Given the description of an element on the screen output the (x, y) to click on. 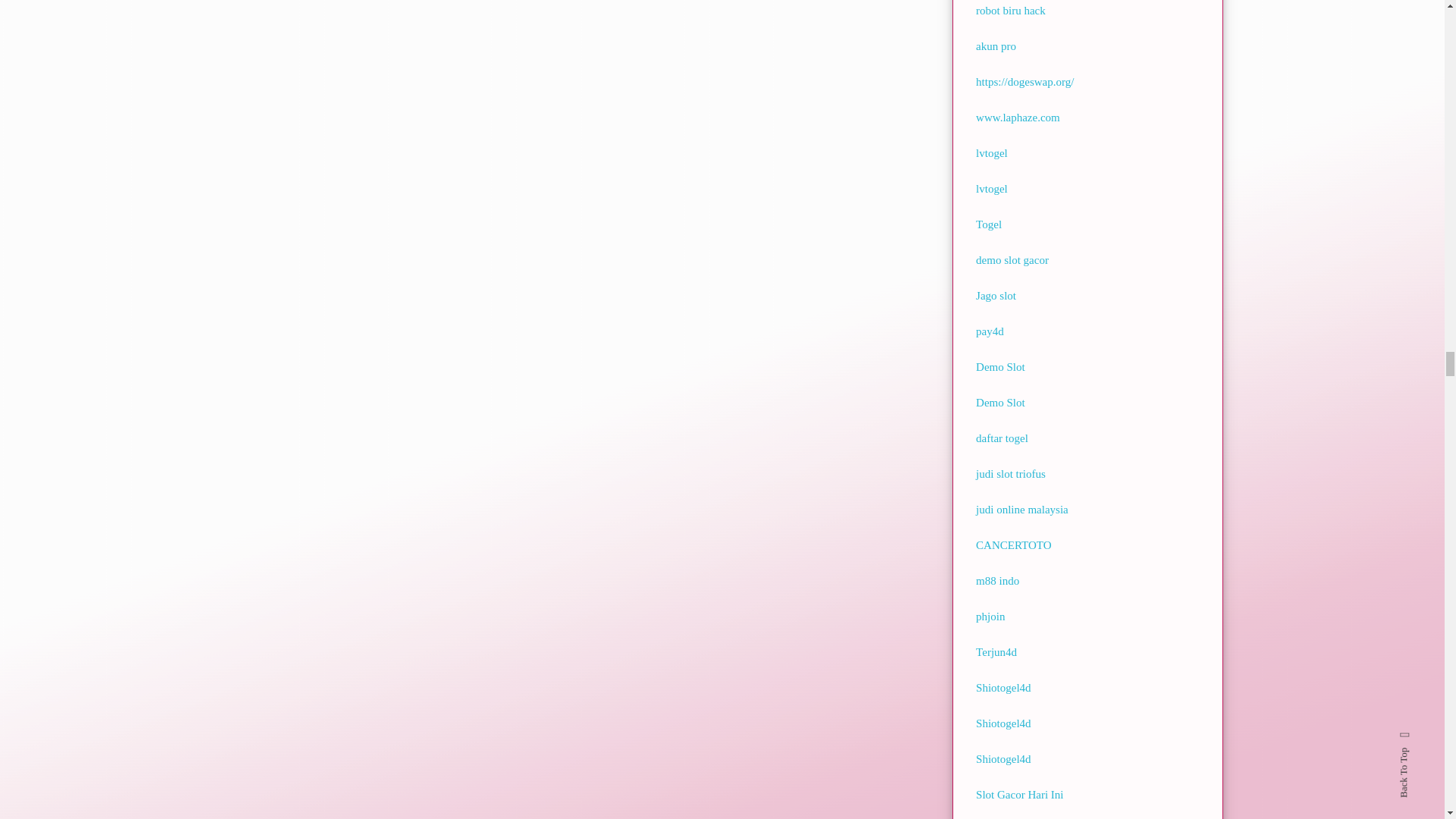
demo slot gacor (1011, 259)
